Given the description of an element on the screen output the (x, y) to click on. 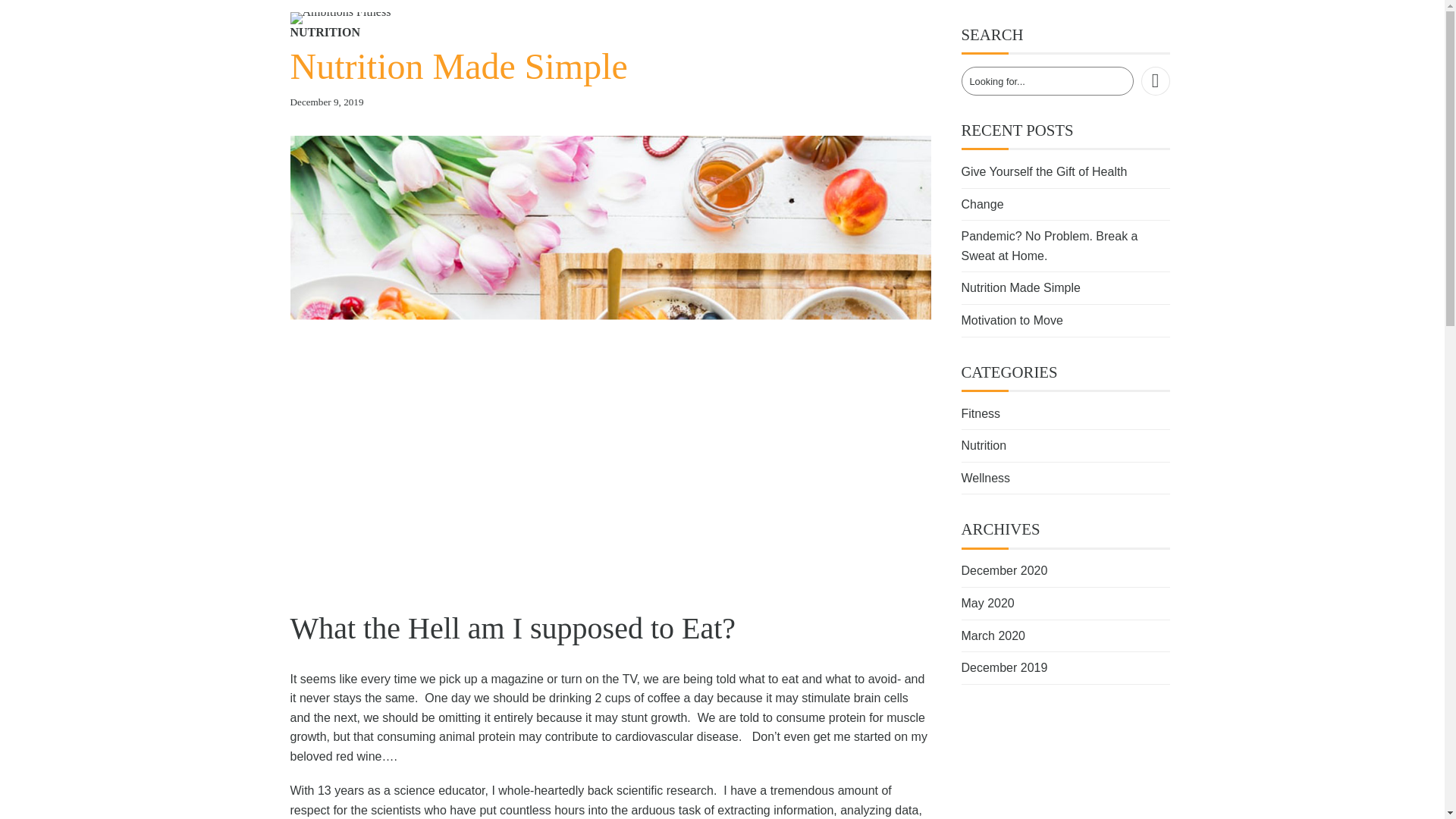
Motivation to Move (1011, 319)
March 2020 (993, 635)
Nutrition (983, 445)
December 2020 (1004, 570)
Give Yourself the Gift of Health (1043, 171)
Nutrition Made Simple (1020, 287)
Wellness (985, 477)
December 2019 (1004, 667)
Change (982, 204)
May 2020 (987, 603)
Fitness (980, 413)
Pandemic? No Problem. Break a Sweat at Home. (1049, 246)
NUTRITION (324, 32)
